Given the description of an element on the screen output the (x, y) to click on. 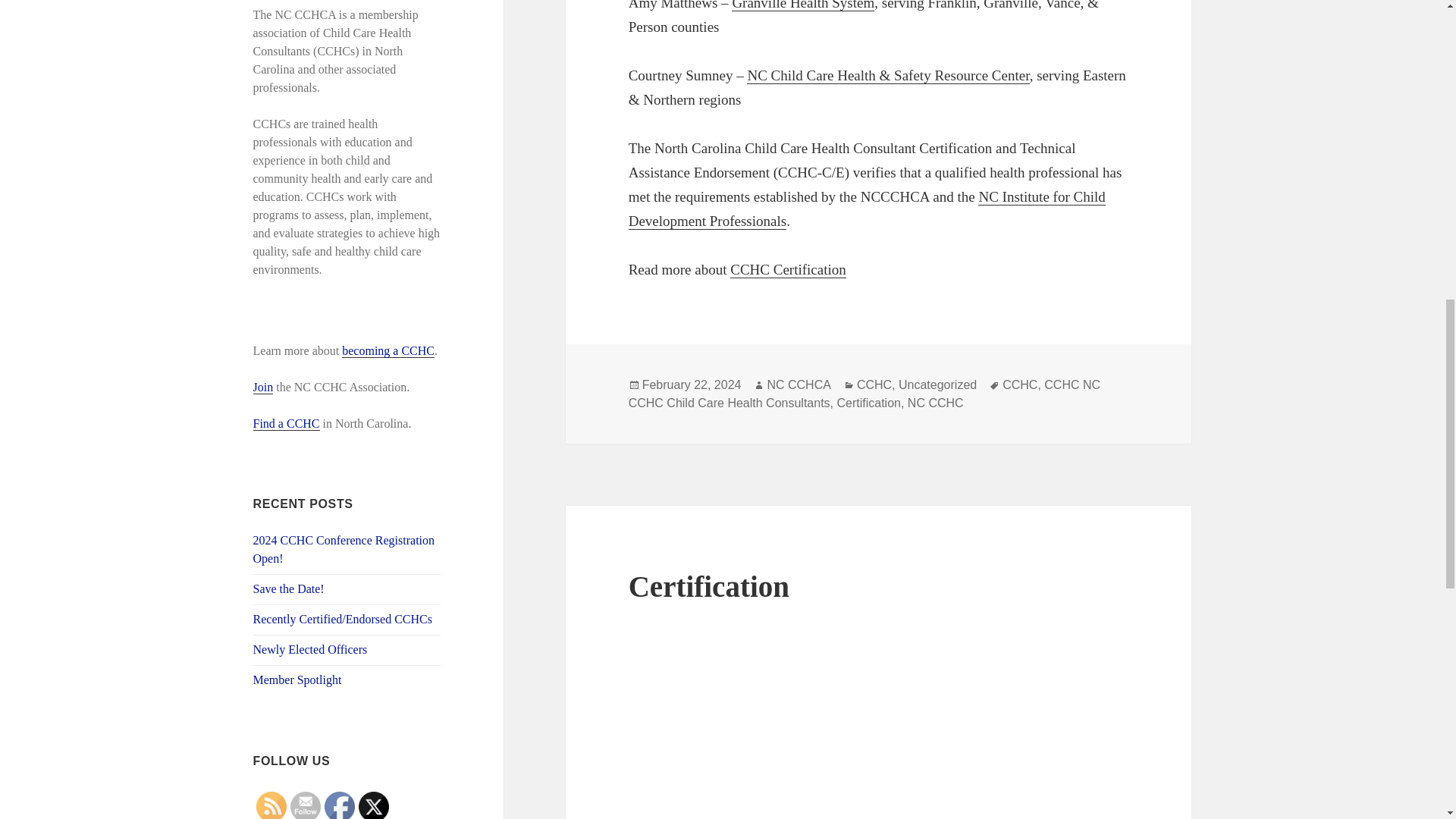
Granville Health System (803, 5)
NC Institute for Child Development Professionals (866, 209)
Save the Date! (288, 588)
CCHC (874, 385)
CCHC Certification (787, 269)
RSS (271, 805)
Facebook (339, 805)
February 22, 2024 (691, 385)
Newly Elected Officers (310, 649)
becoming a CCHC (387, 350)
Member Spotlight (297, 679)
Find a CCHC (286, 423)
Uncategorized (937, 385)
2024 CCHC Conference Registration Open! (344, 549)
Follow by Email (304, 805)
